Given the description of an element on the screen output the (x, y) to click on. 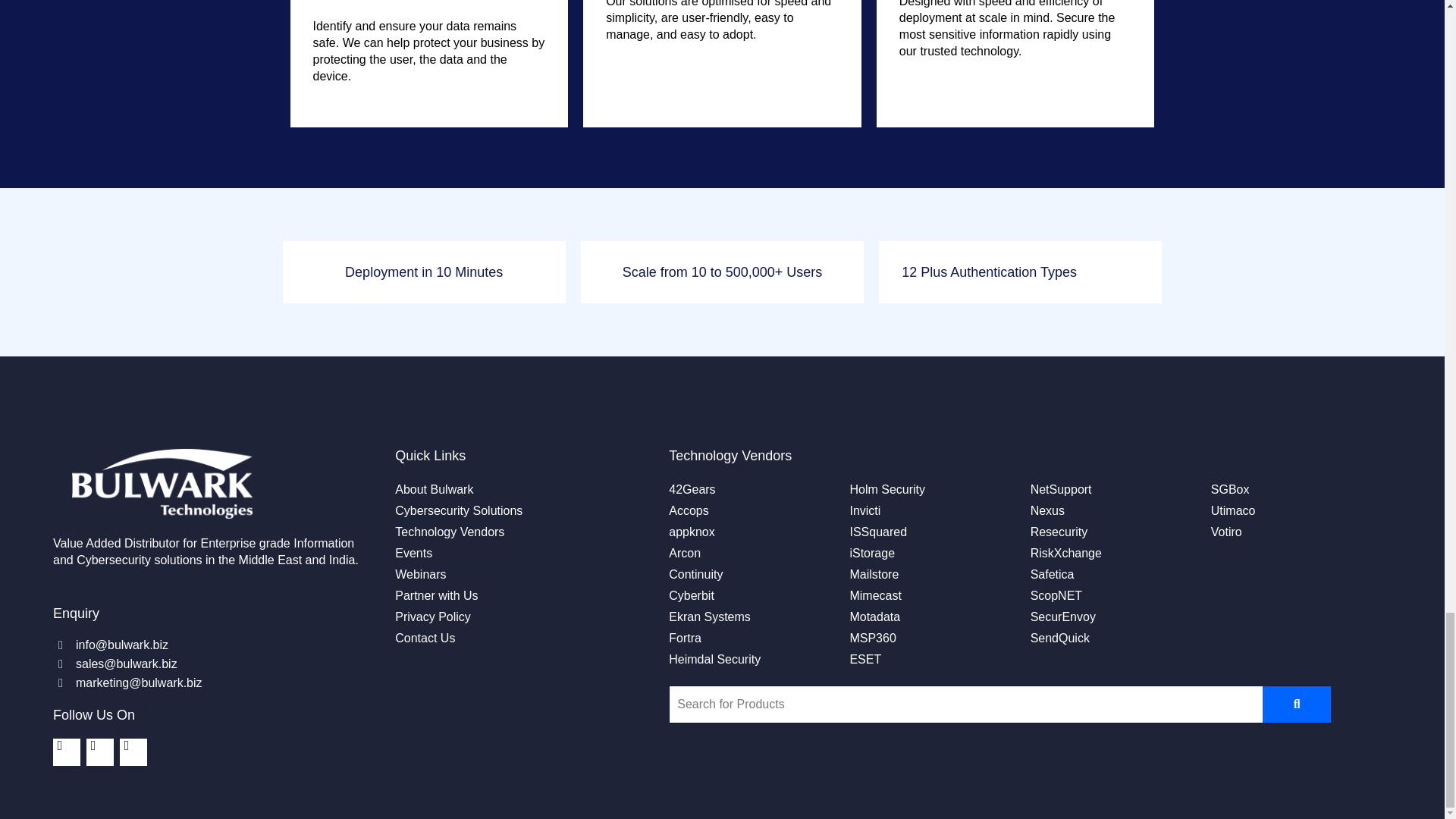
Technology Vendors (448, 531)
Contact Us (424, 638)
Linkedin-in (66, 751)
Partner with Us (435, 595)
Continuity (695, 574)
Webinars (419, 574)
Cybersecurity Solutions (458, 510)
Icon-twitter (99, 751)
Privacy Policy (432, 617)
Accops (687, 510)
Search (965, 704)
Arcon (684, 553)
42Gears (691, 489)
appknox (691, 531)
Icon-youtube-v (133, 751)
